Given the description of an element on the screen output the (x, y) to click on. 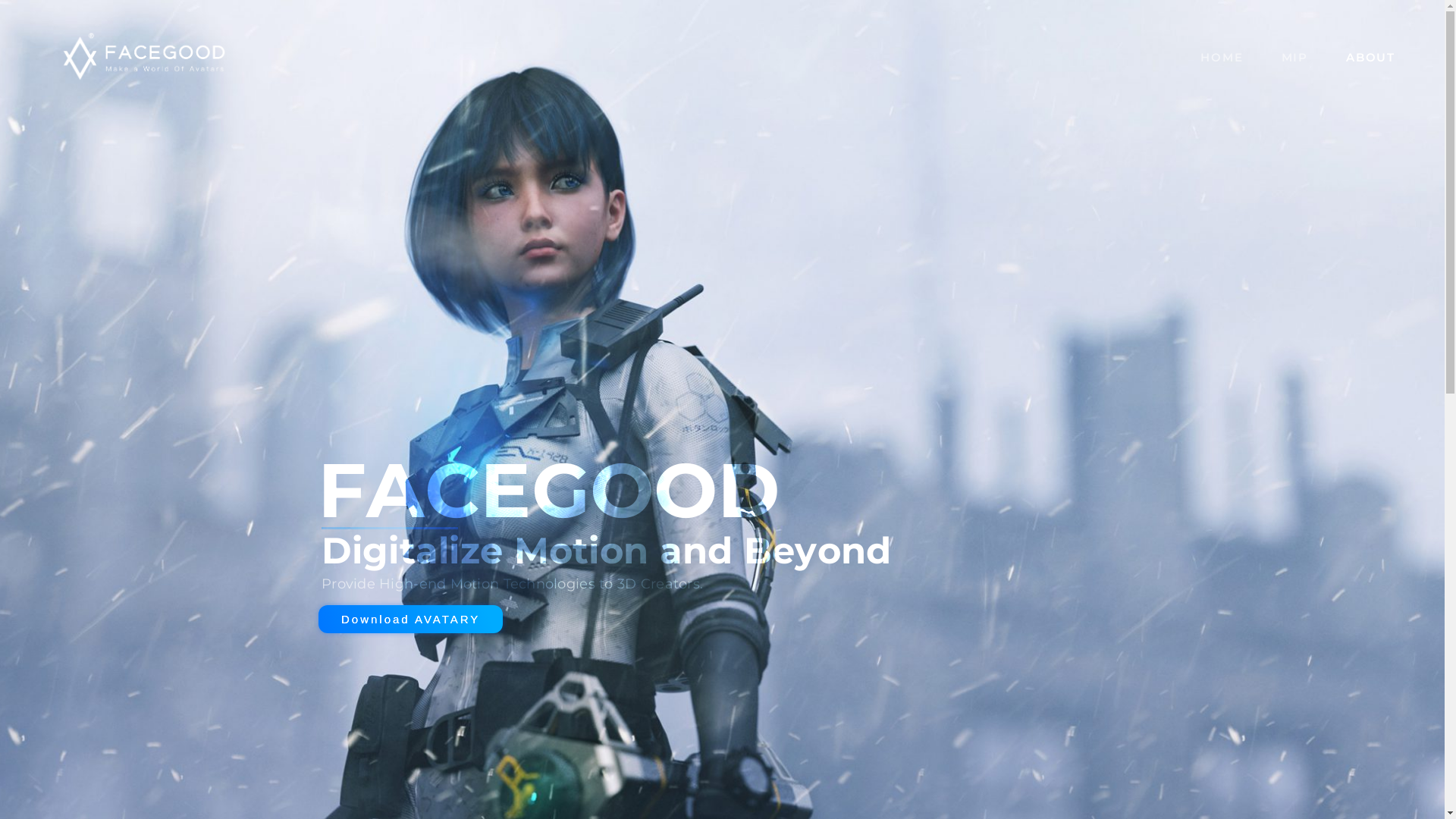
MIP Element type: text (1294, 55)
ABOUT Element type: text (1370, 55)
HOME Element type: text (1221, 55)
